Given the description of an element on the screen output the (x, y) to click on. 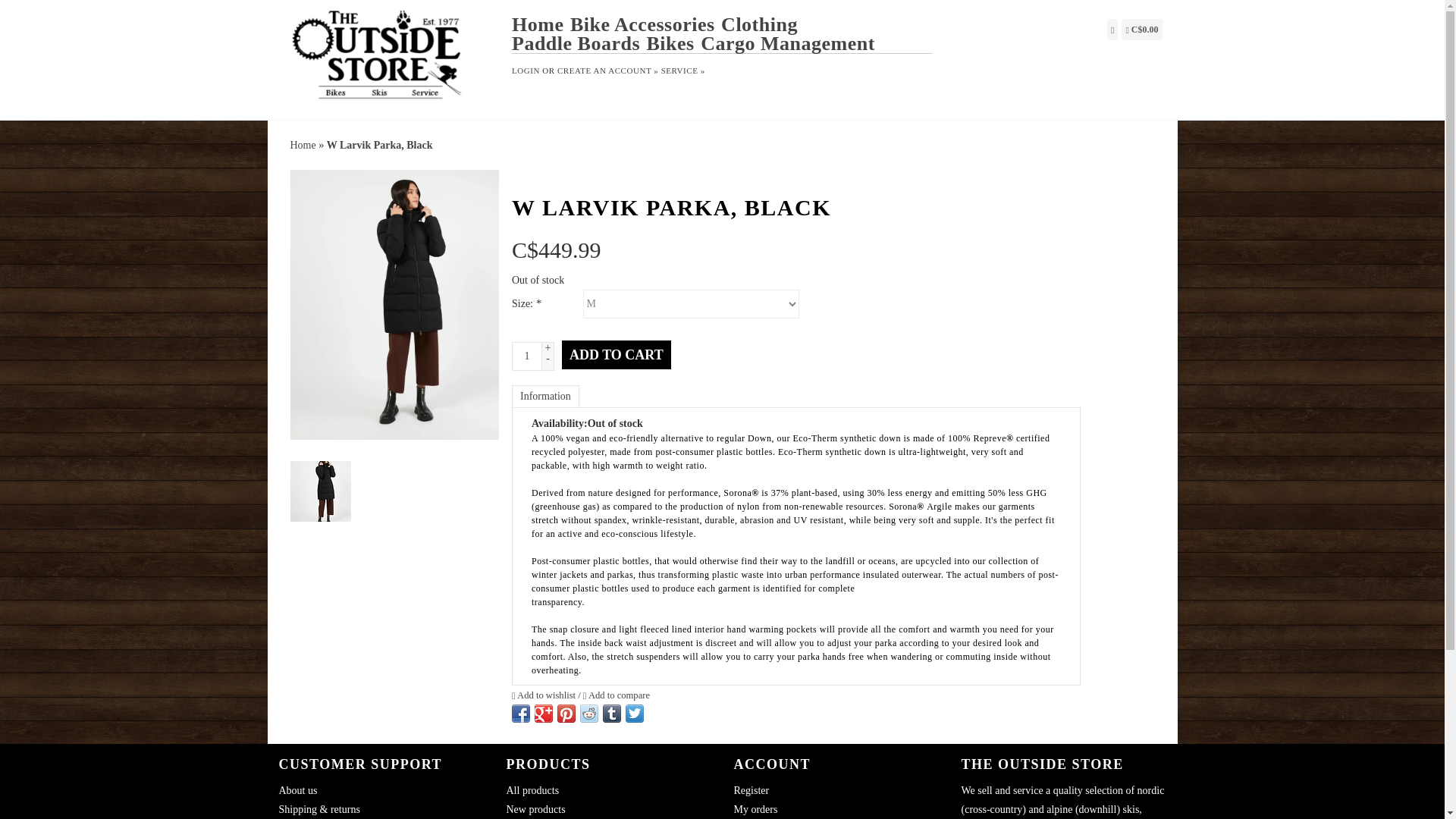
Outside Store (389, 58)
1 (526, 356)
Bikes (672, 43)
Home (539, 24)
Bike Accessories (644, 24)
Bike Accessories (644, 24)
Clothing (761, 24)
Paddle Boards (577, 43)
Clothing (761, 24)
